Given the description of an element on the screen output the (x, y) to click on. 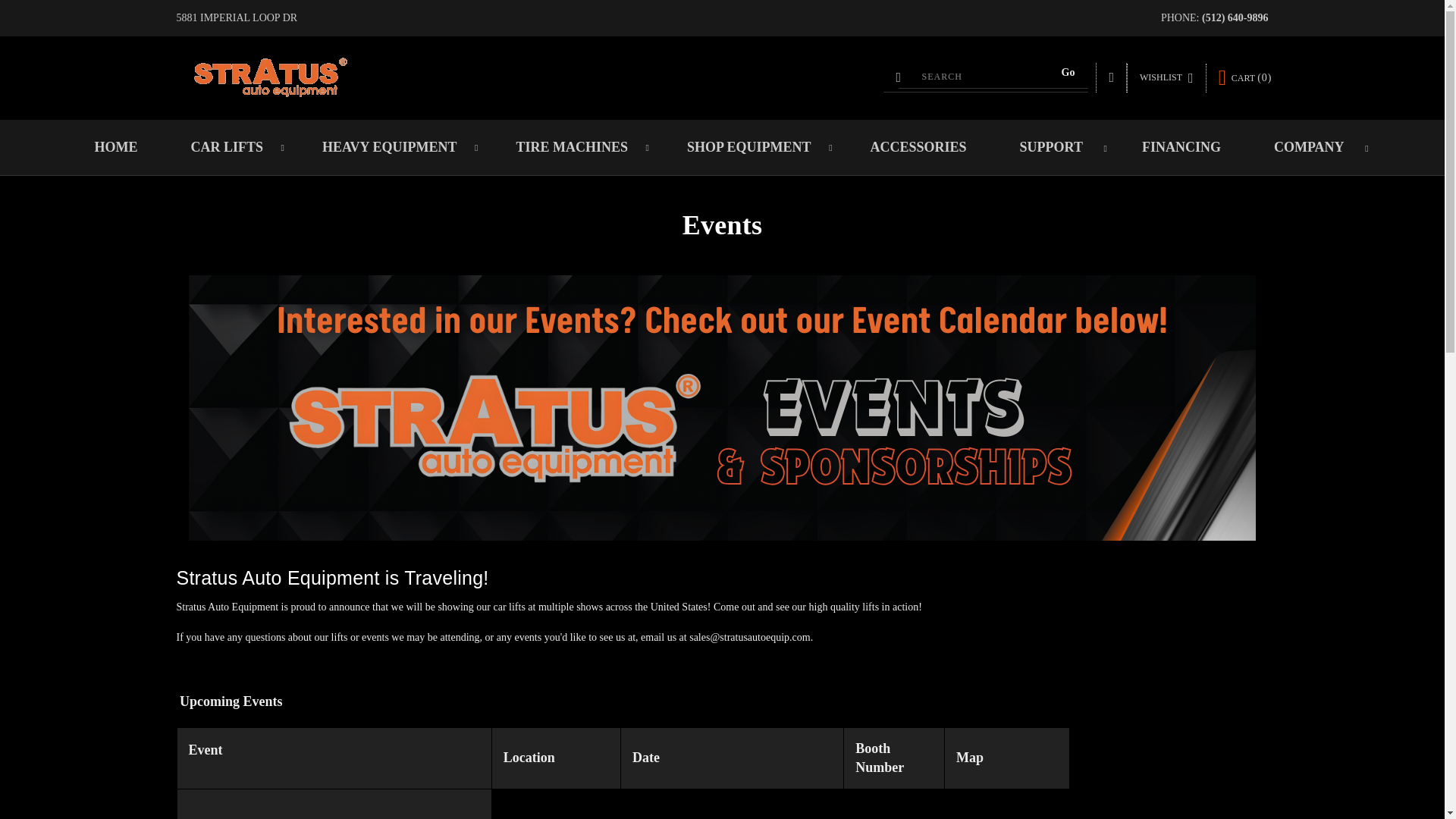
HOME (114, 147)
Go (1068, 72)
WISHLIST (1165, 77)
CART 0 (1245, 77)
Stratus Auto Equipment (270, 78)
CAR LIFTS (229, 147)
Go (1068, 72)
